Given the description of an element on the screen output the (x, y) to click on. 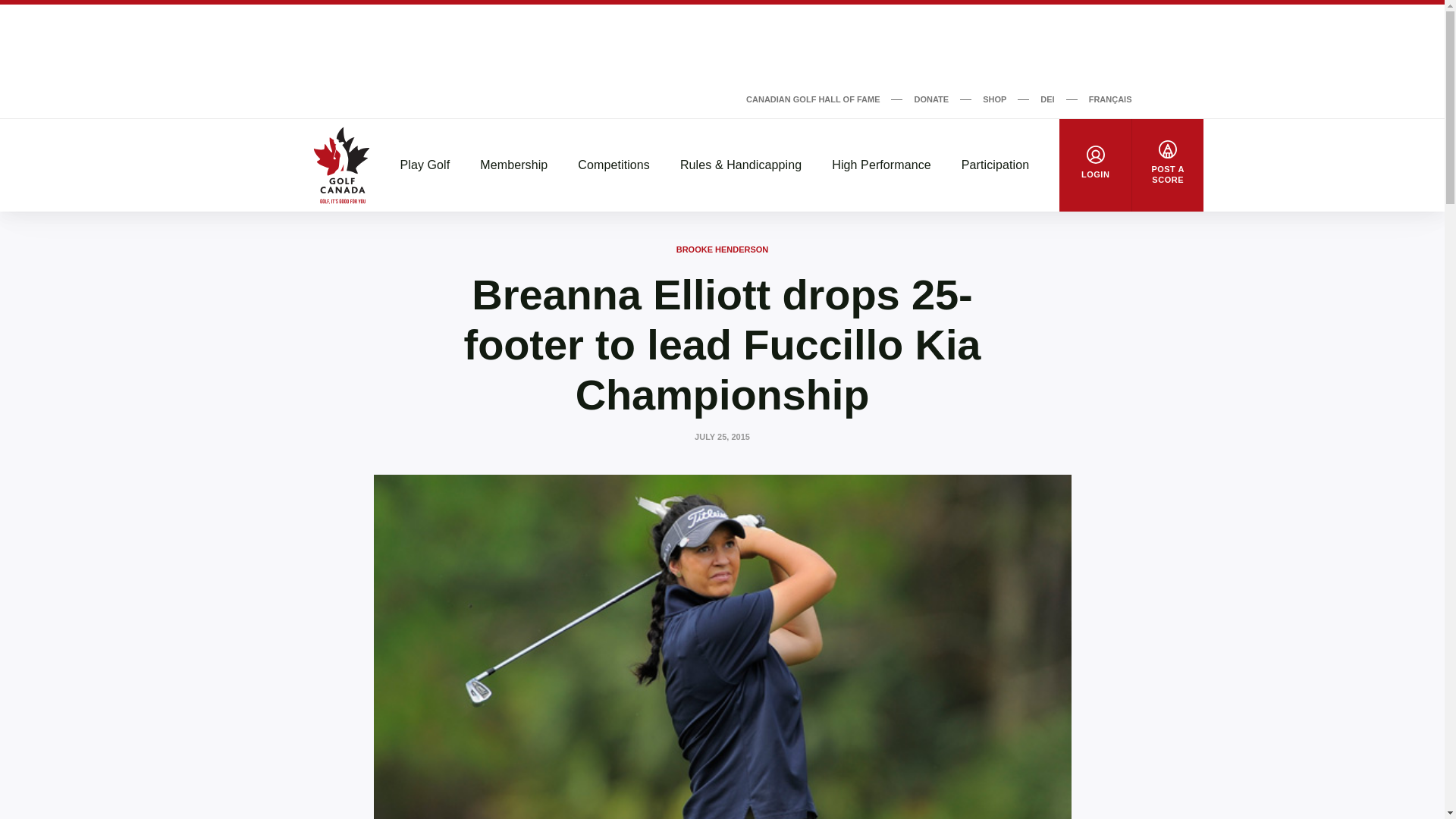
Membership (513, 165)
SHOP (994, 99)
Play Golf (425, 165)
DONATE (931, 99)
Participation (994, 165)
CANADIAN GOLF HALL OF FAME (812, 99)
High Performance (881, 165)
3rd party ad content (721, 46)
DEI (1047, 99)
Competitions (613, 165)
